Given the description of an element on the screen output the (x, y) to click on. 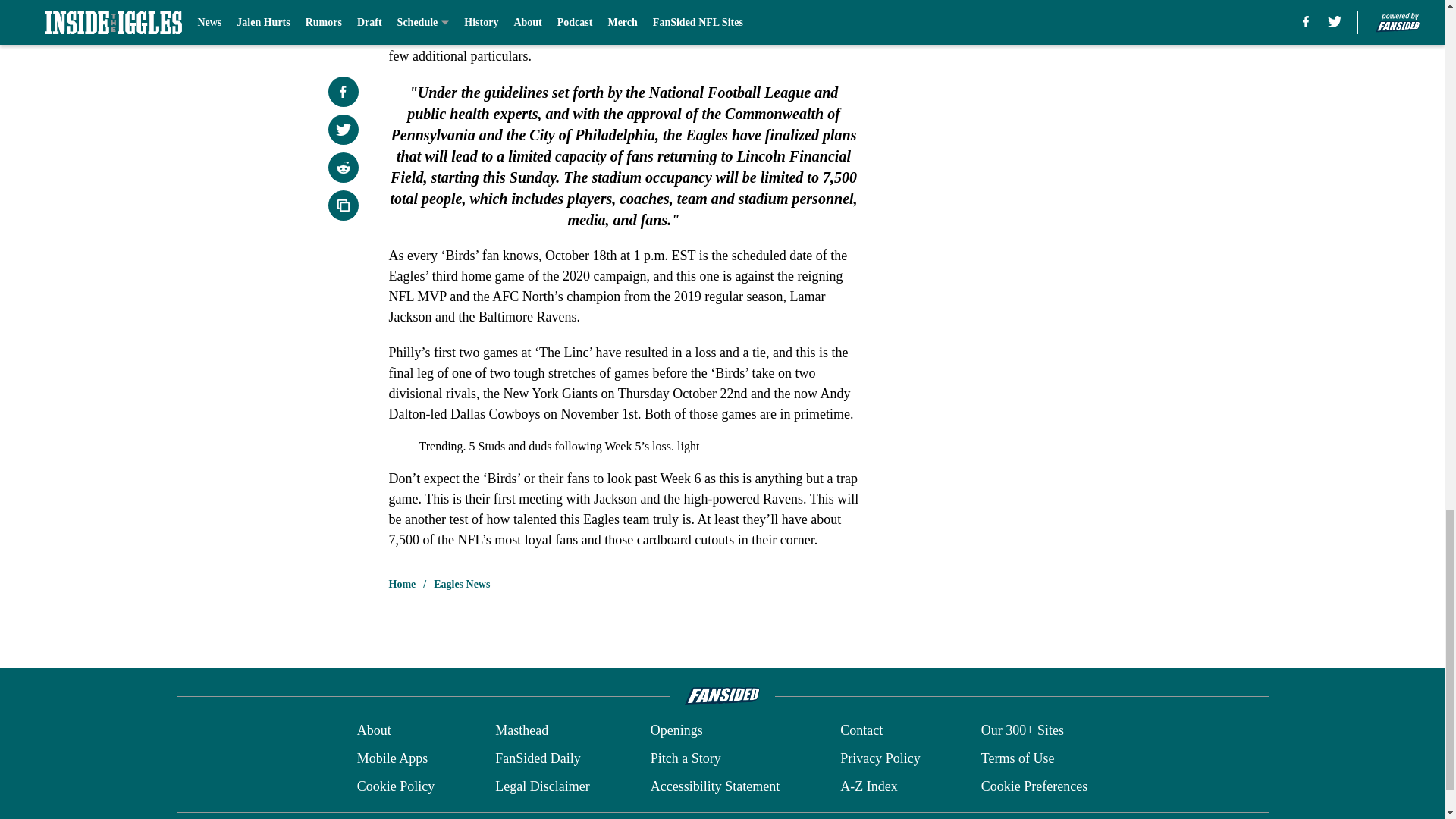
Cookie Policy (395, 786)
Pitch a Story (685, 758)
Privacy Policy (880, 758)
Accessibility Statement (714, 786)
About (373, 730)
Terms of Use (1017, 758)
Legal Disclaimer (542, 786)
Masthead (521, 730)
Home (401, 584)
Openings (676, 730)
a report from Chris McPherson of PhiladelphiaEagles.com (623, 35)
Cookie Preferences (1034, 786)
A-Z Index (868, 786)
Eagles News (461, 584)
FanSided Daily (537, 758)
